Given the description of an element on the screen output the (x, y) to click on. 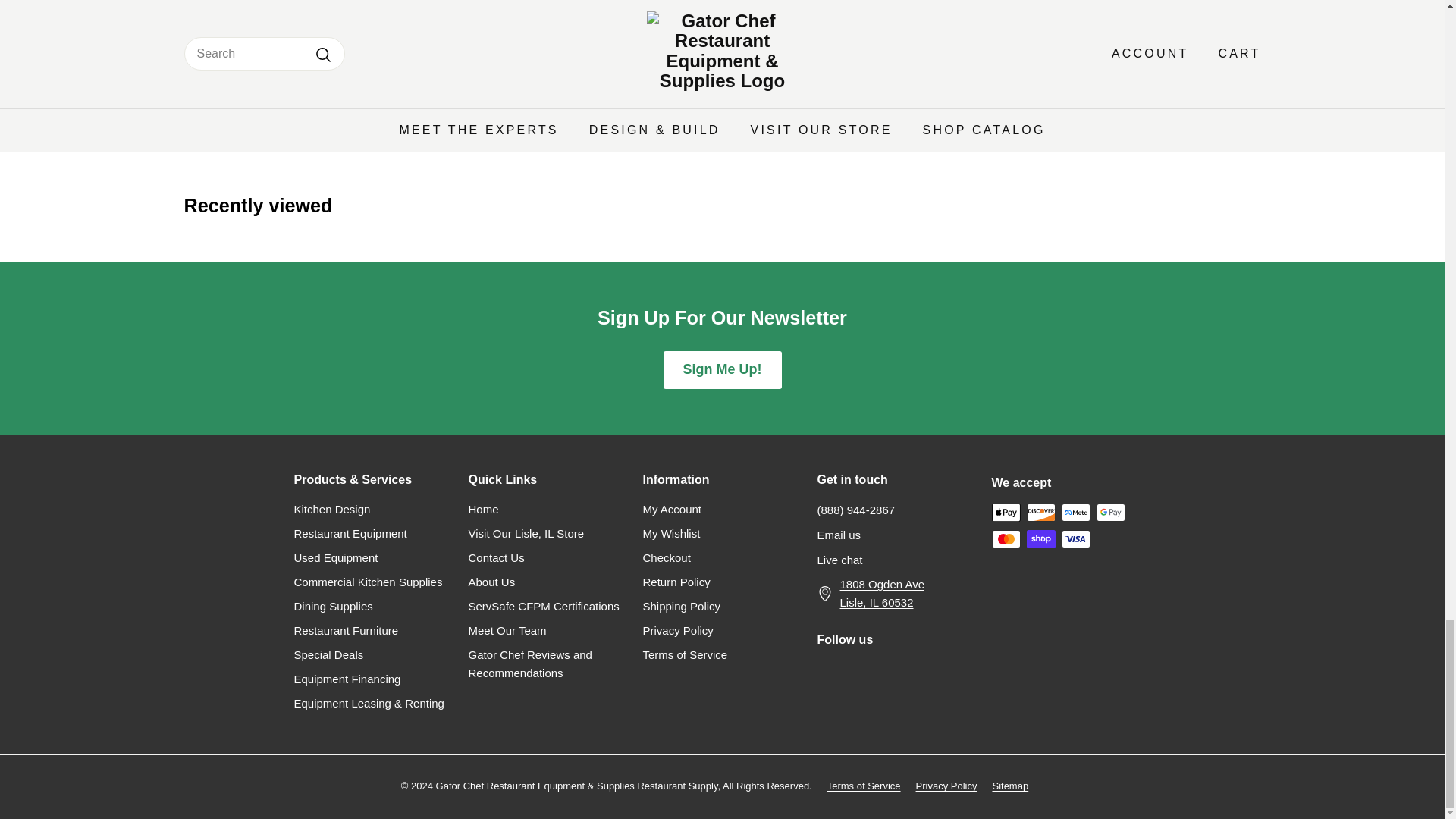
Discover (1040, 512)
Visa (1075, 538)
Meta Pay (1075, 512)
Mastercard (1005, 538)
Shop Pay (1040, 538)
Google Pay (1110, 512)
Apple Pay (1005, 512)
